Given the description of an element on the screen output the (x, y) to click on. 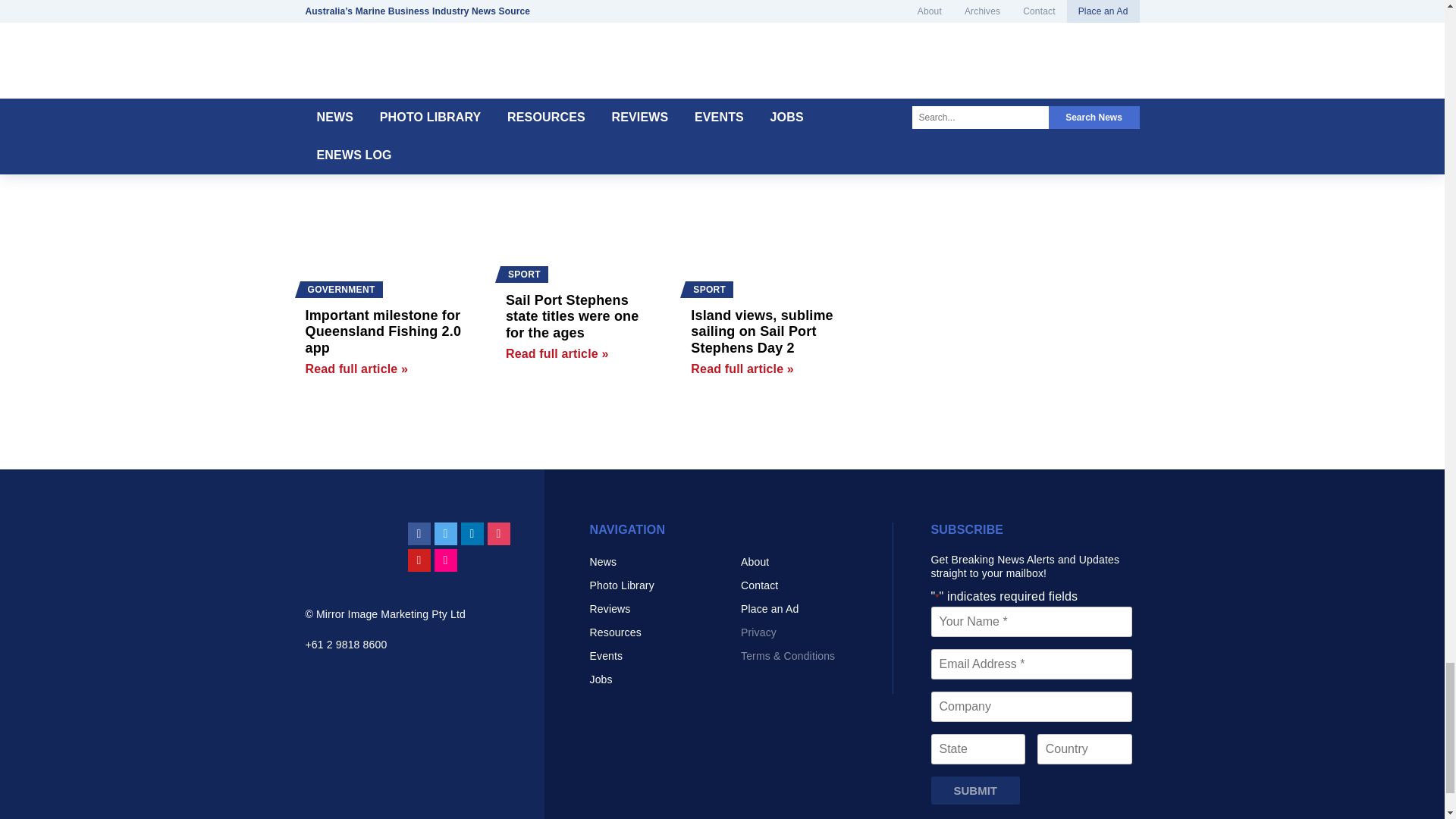
Submit (975, 790)
